Given the description of an element on the screen output the (x, y) to click on. 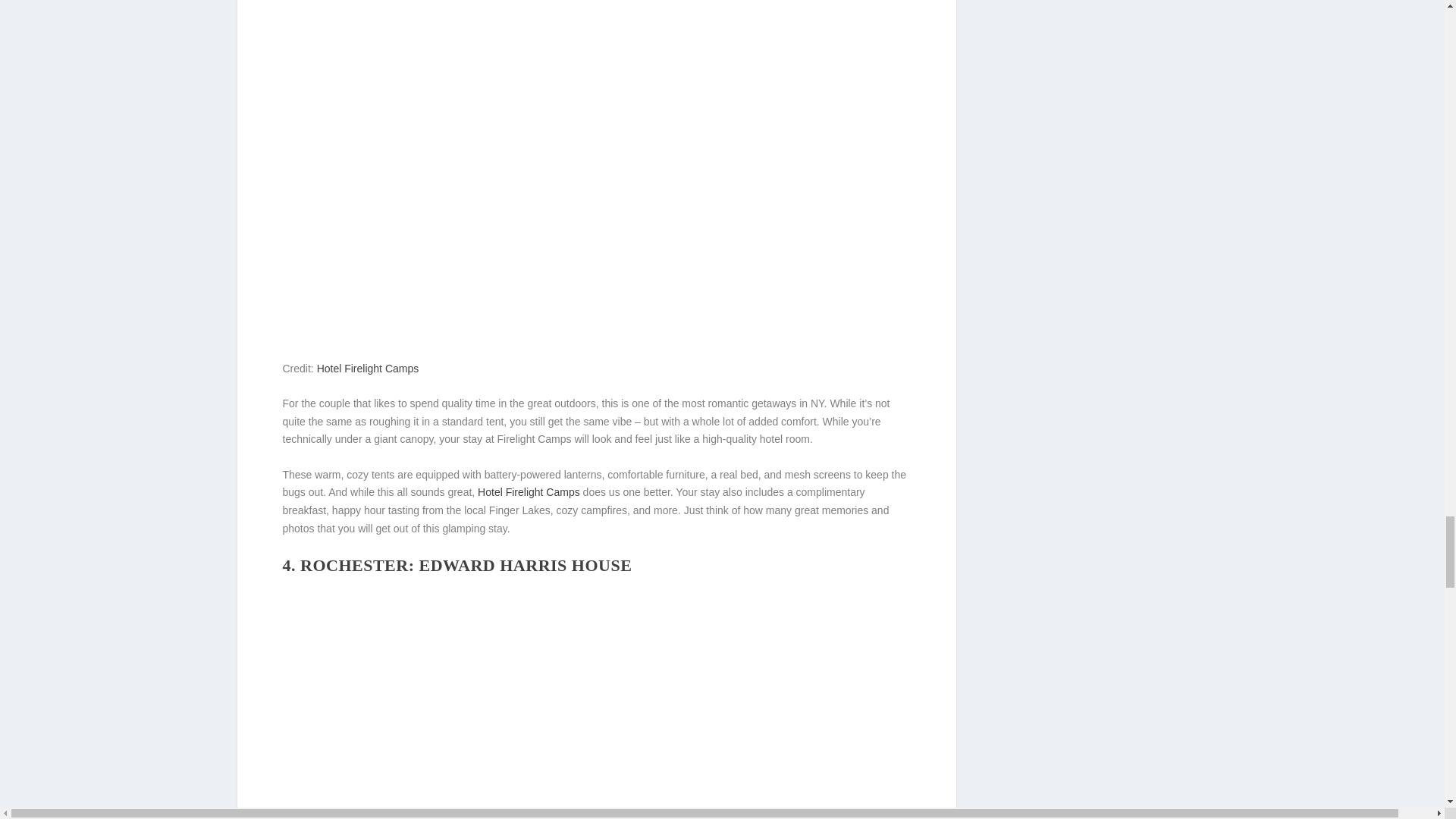
Hotel Firelight Camps (596, 69)
